Given the description of an element on the screen output the (x, y) to click on. 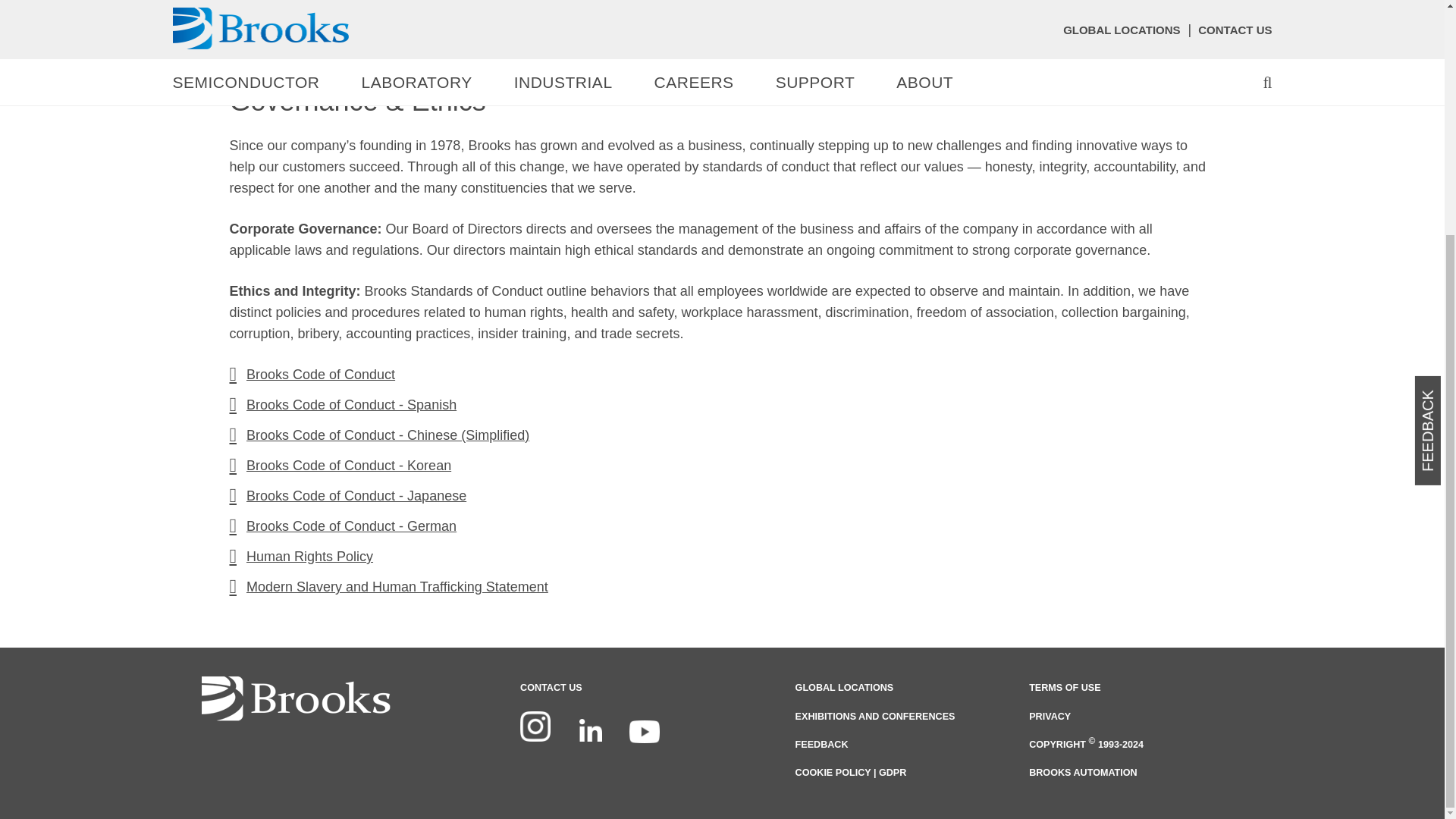
youtube (643, 731)
youtube (643, 735)
Follow us (534, 731)
Follow us (534, 726)
Follow us (590, 730)
Follow us (590, 735)
